Given the description of an element on the screen output the (x, y) to click on. 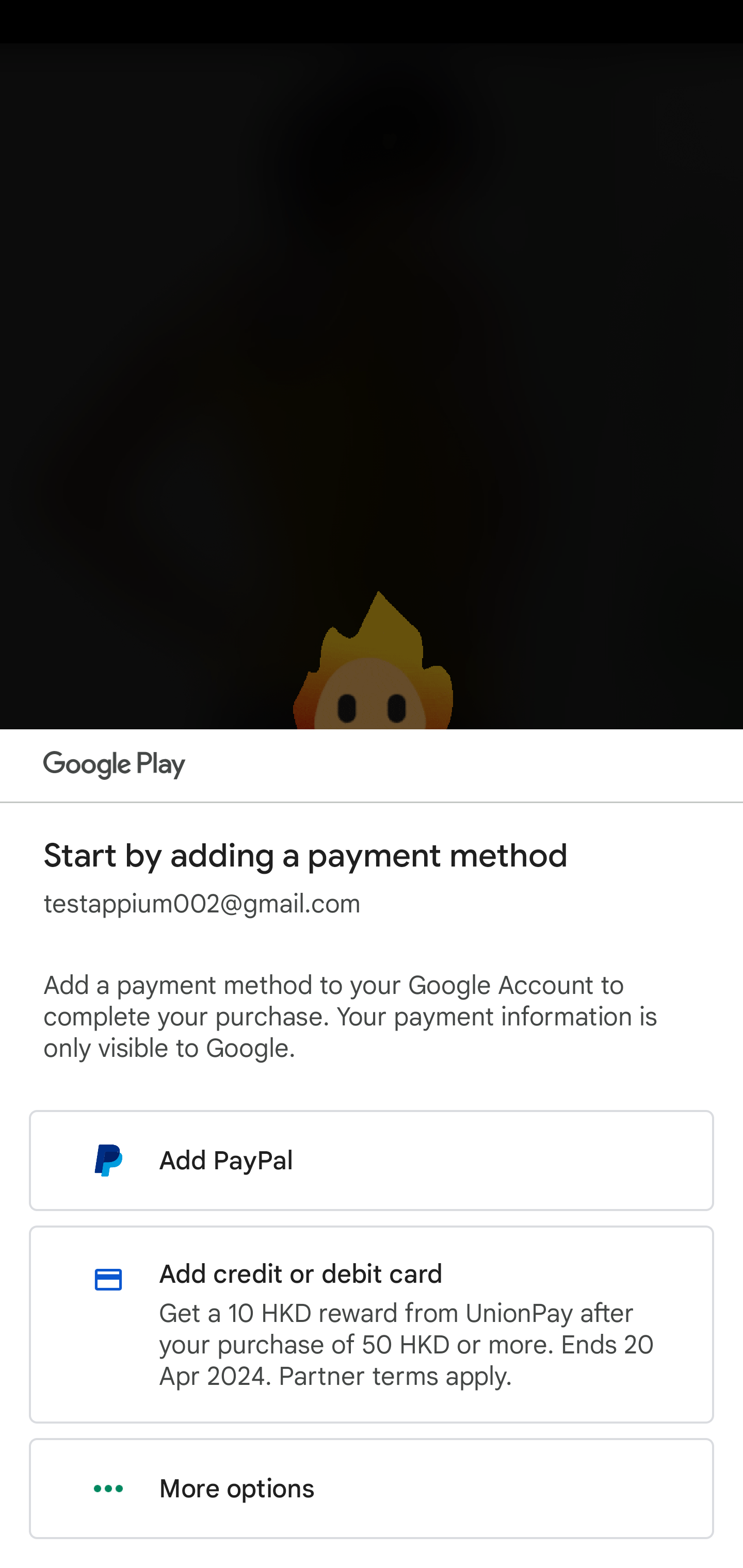
Add PayPal (371, 1160)
More options (371, 1488)
